Given the description of an element on the screen output the (x, y) to click on. 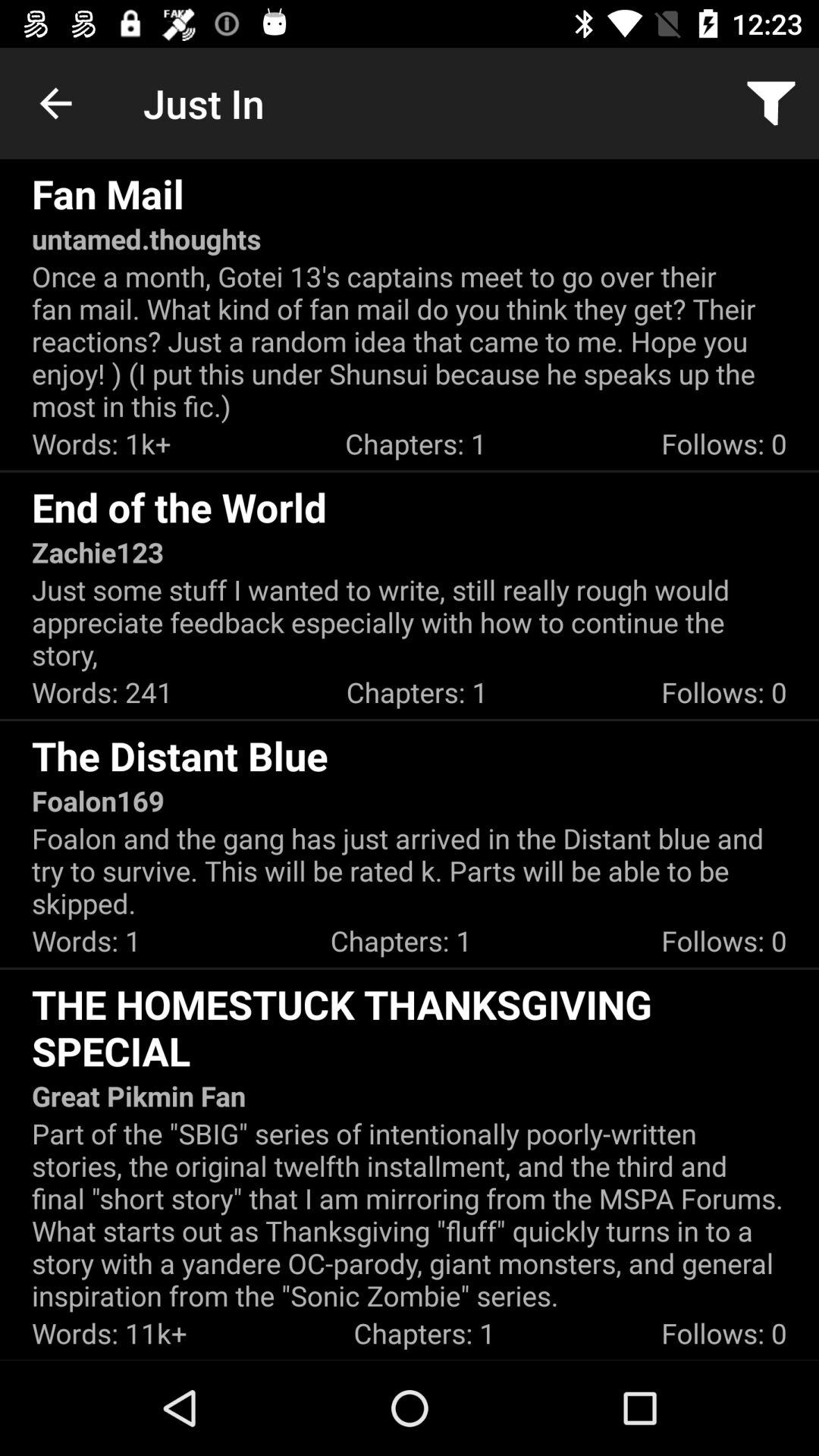
turn on the icon above fan mail (55, 103)
